Given the description of an element on the screen output the (x, y) to click on. 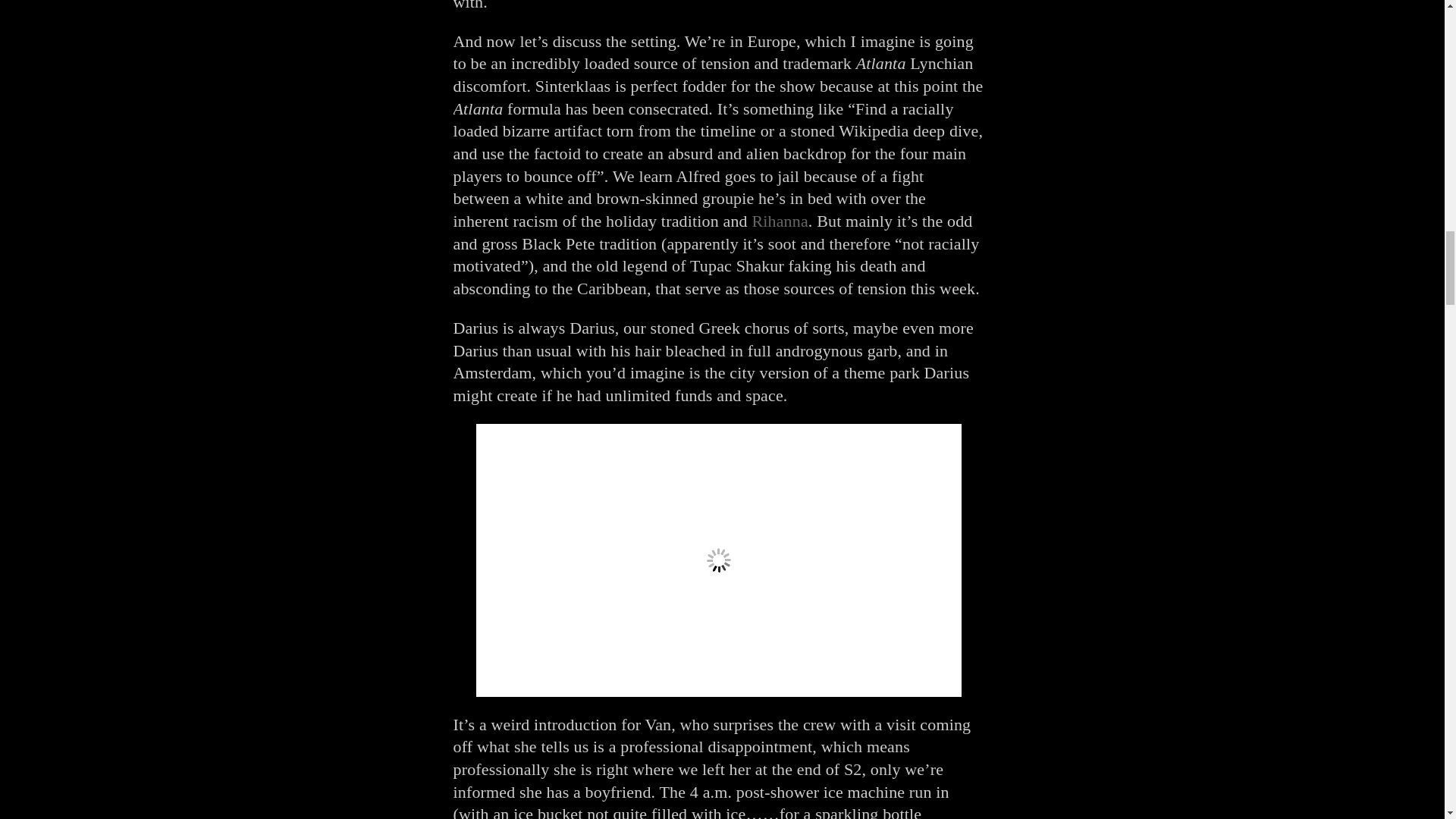
Rihanna (779, 220)
